Given the description of an element on the screen output the (x, y) to click on. 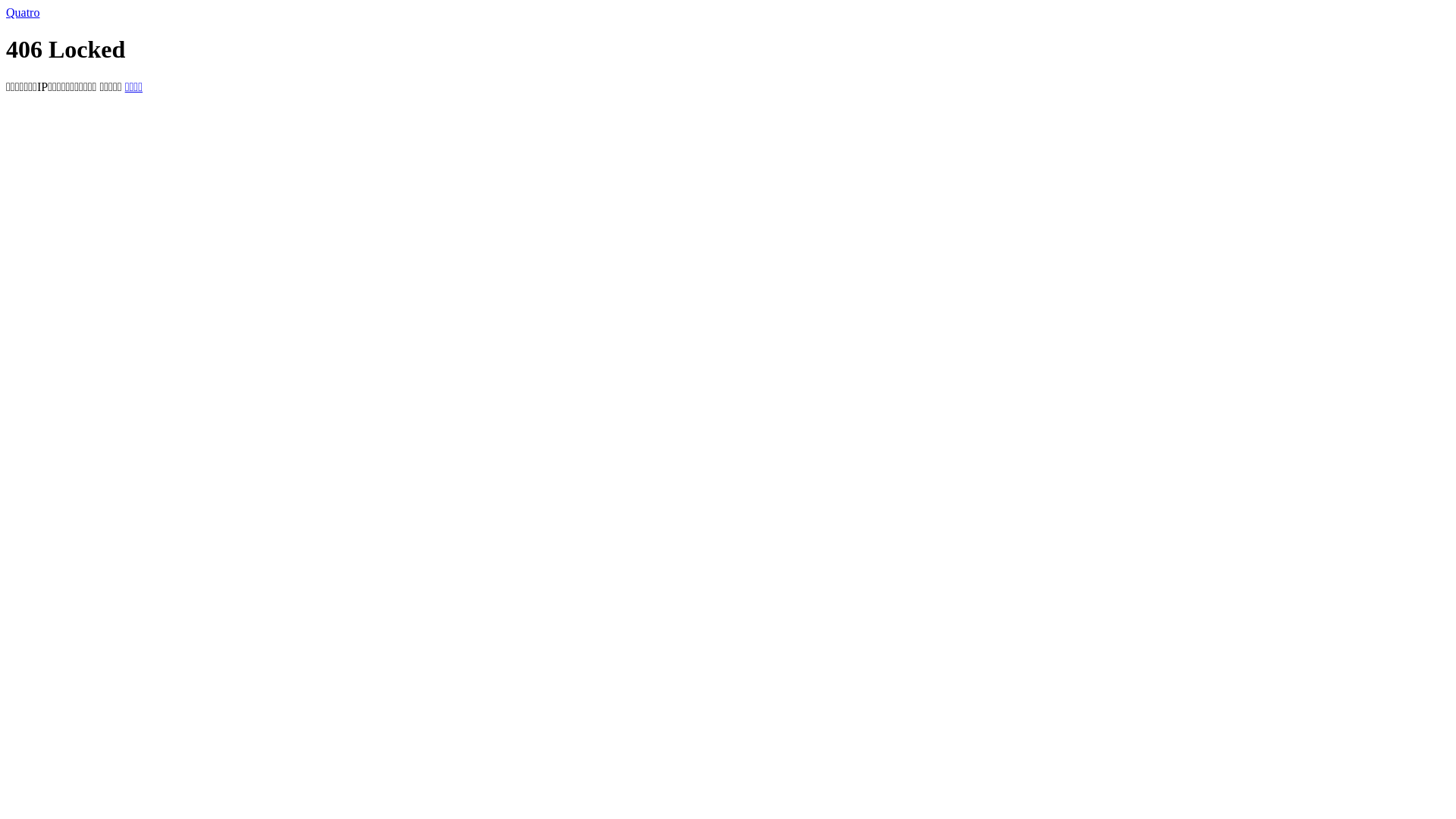
Quatro Element type: text (22, 12)
